Given the description of an element on the screen output the (x, y) to click on. 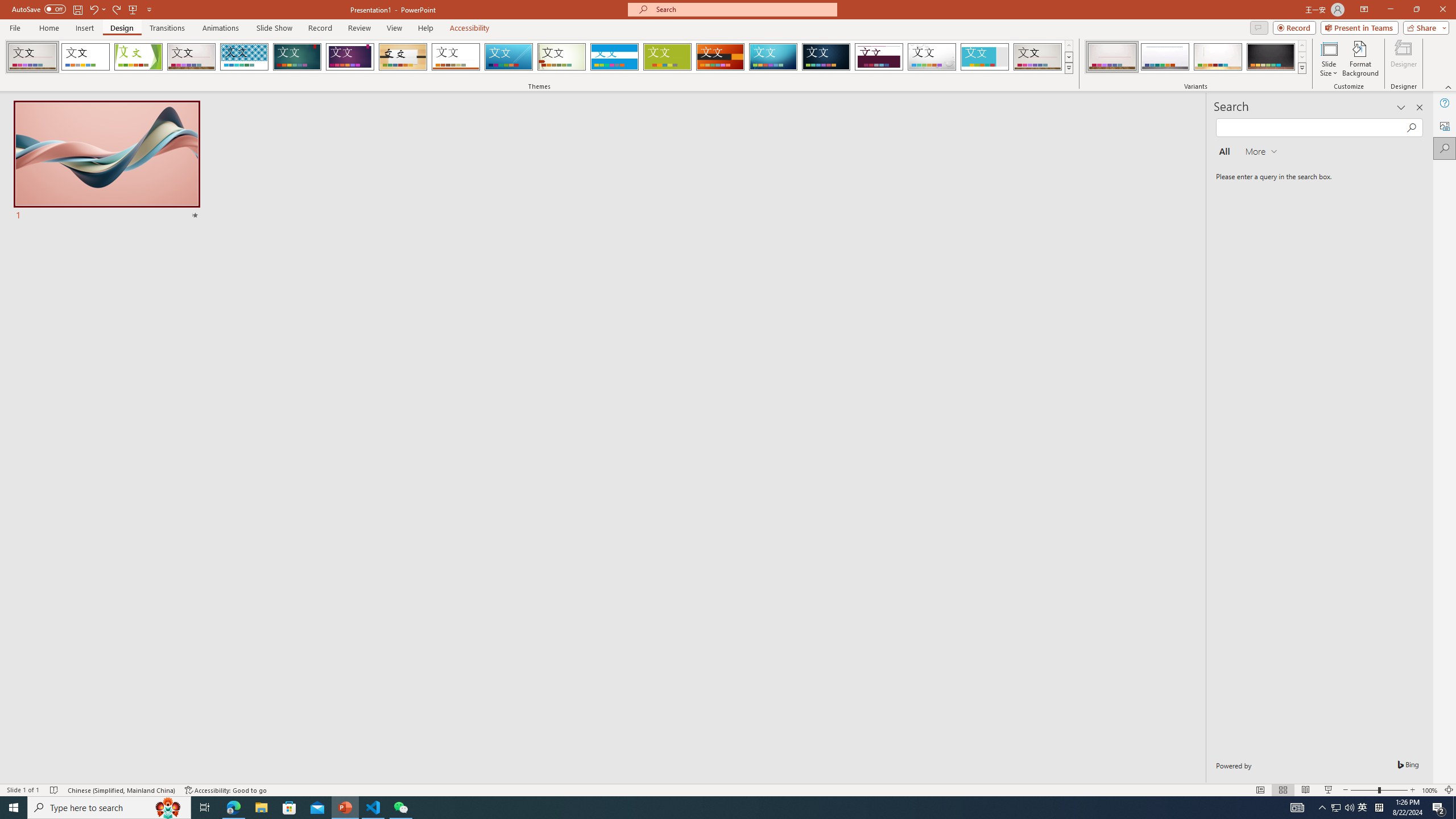
Slide Size (1328, 58)
Gallery Variant 4 (1270, 56)
Banded (614, 56)
Gallery Variant 2 (1164, 56)
Facet (138, 56)
Zoom 100% (1430, 790)
Frame (984, 56)
